Given the description of an element on the screen output the (x, y) to click on. 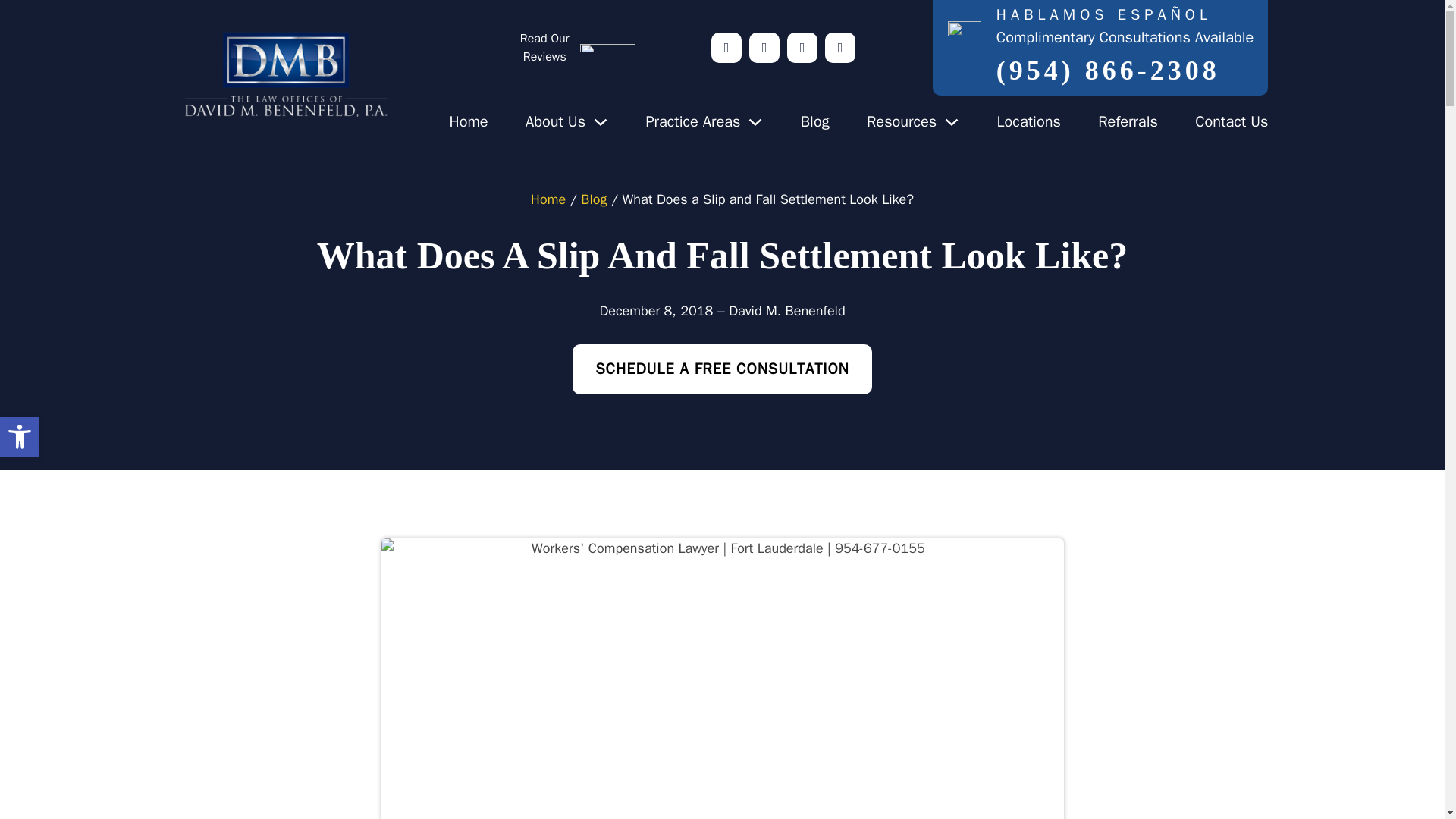
Accessibility Tools (19, 436)
Contact Us (19, 436)
About Us (1231, 121)
Home Page (555, 121)
Accessibility Tools (467, 121)
Practice Areas (19, 436)
Home (692, 121)
Injury Blog (467, 121)
Resources (814, 121)
